Given the description of an element on the screen output the (x, y) to click on. 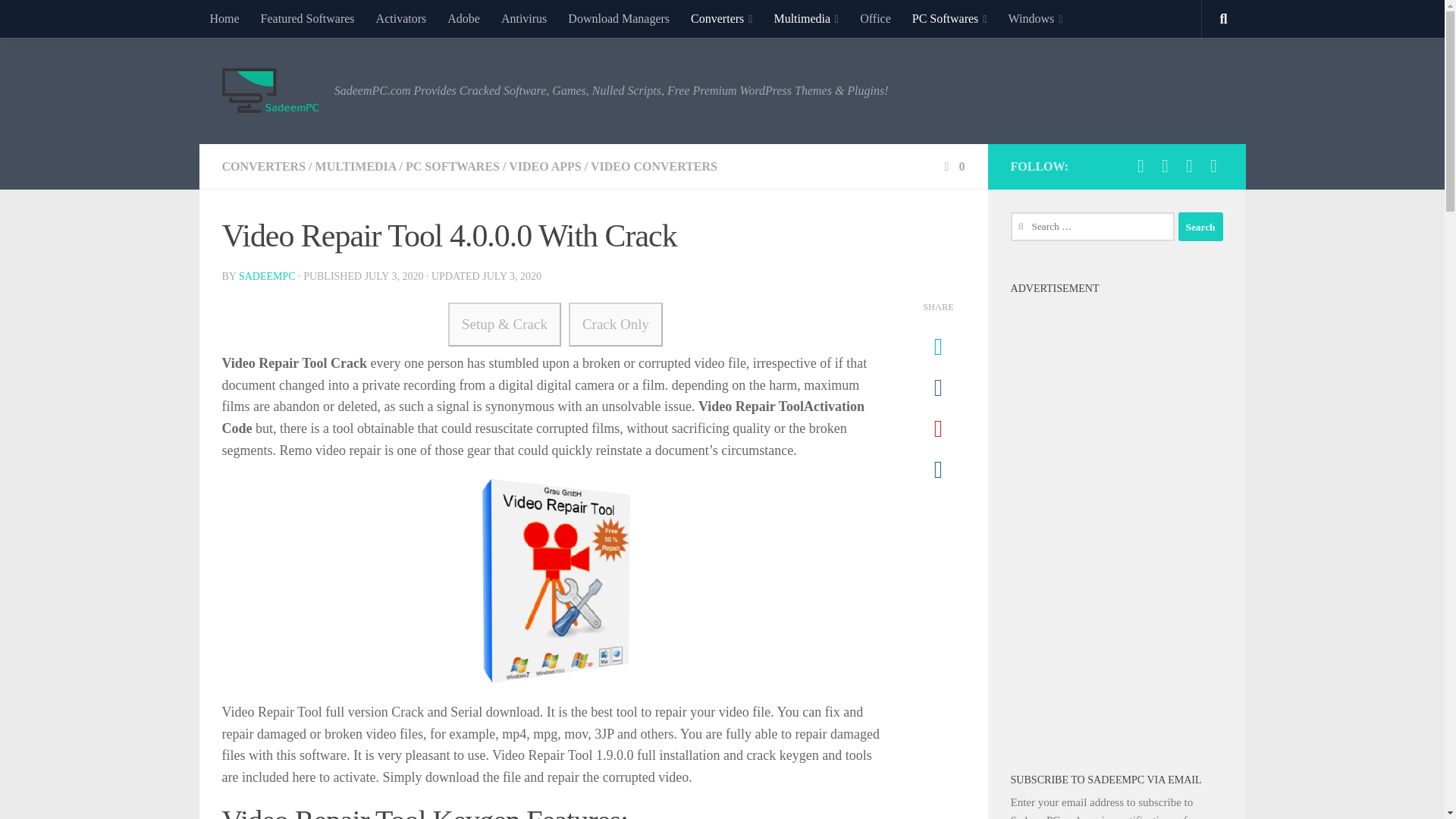
Search (1200, 226)
Search (1200, 226)
Posts by SadeemPC (266, 276)
Skip to content (59, 20)
